Given the description of an element on the screen output the (x, y) to click on. 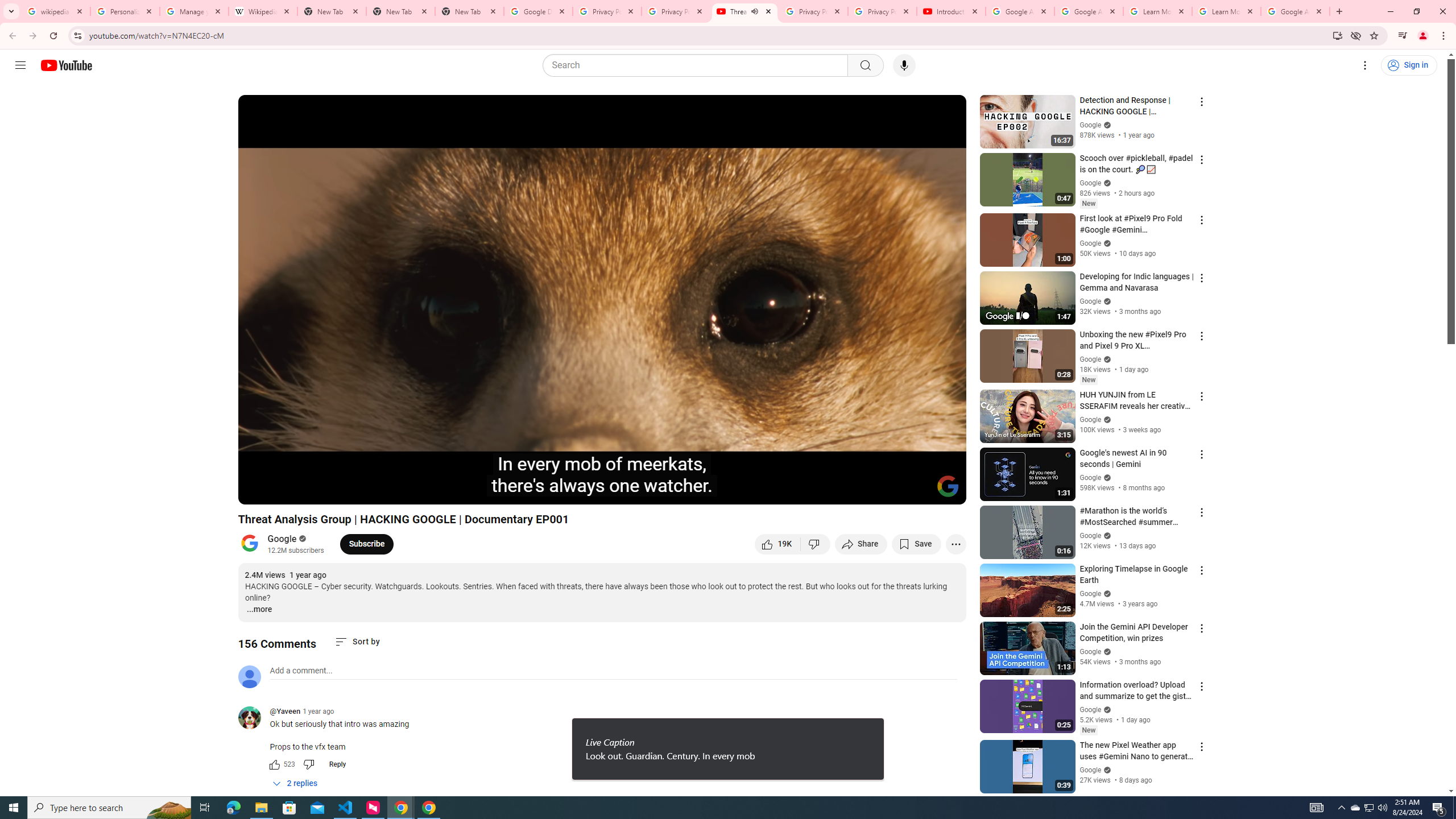
2 replies (295, 783)
Share (861, 543)
Subscribe to Google. (366, 543)
Install YouTube (1336, 35)
Channel watermark (947, 486)
Dislike this comment (307, 764)
